Given the description of an element on the screen output the (x, y) to click on. 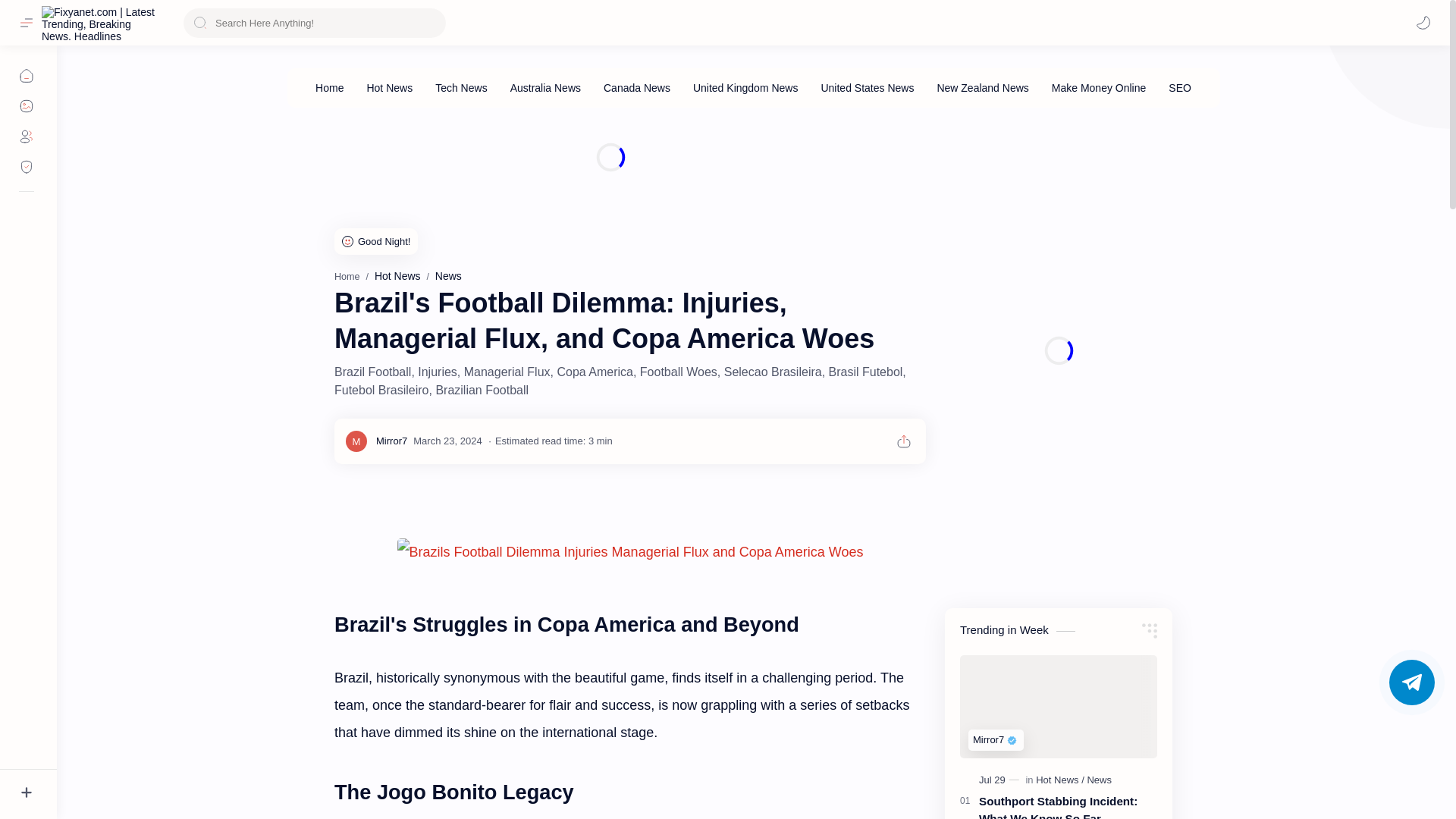
News (448, 275)
Hot News (397, 275)
Published: March 23, 2024 (447, 440)
Published: July 29, 2024 (1000, 780)
Home (346, 276)
